Given the description of an element on the screen output the (x, y) to click on. 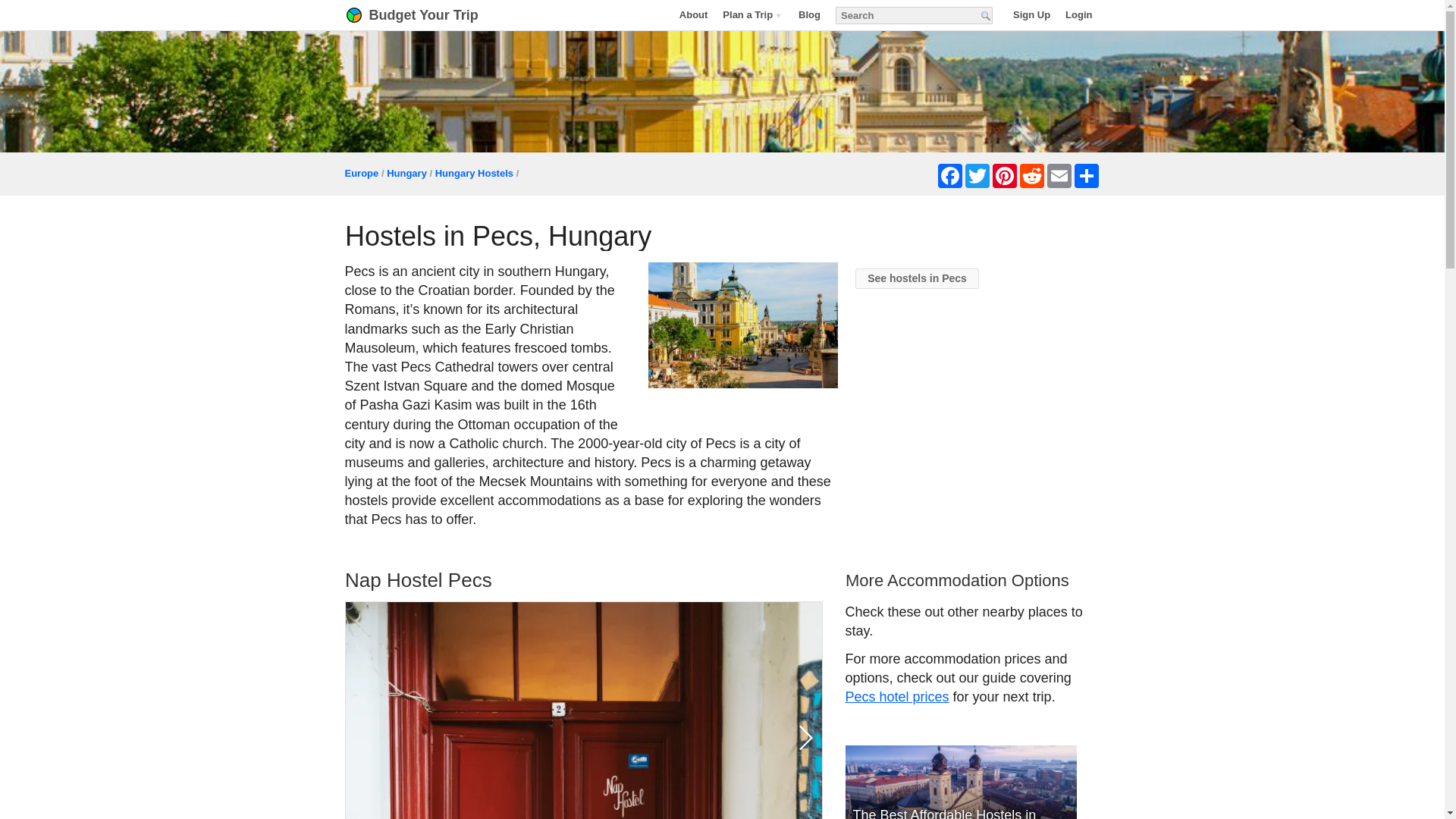
Pecs hotel prices (896, 696)
Hungary Hostels (474, 173)
Twitter (976, 175)
Hungary (406, 173)
Blog (809, 14)
Plan a Trip (752, 14)
See hostels in Pecs (917, 278)
Reddit (1031, 175)
Login (1078, 14)
The Best Affordable Hostels in Debrecen, Hungary (959, 782)
